Given the description of an element on the screen output the (x, y) to click on. 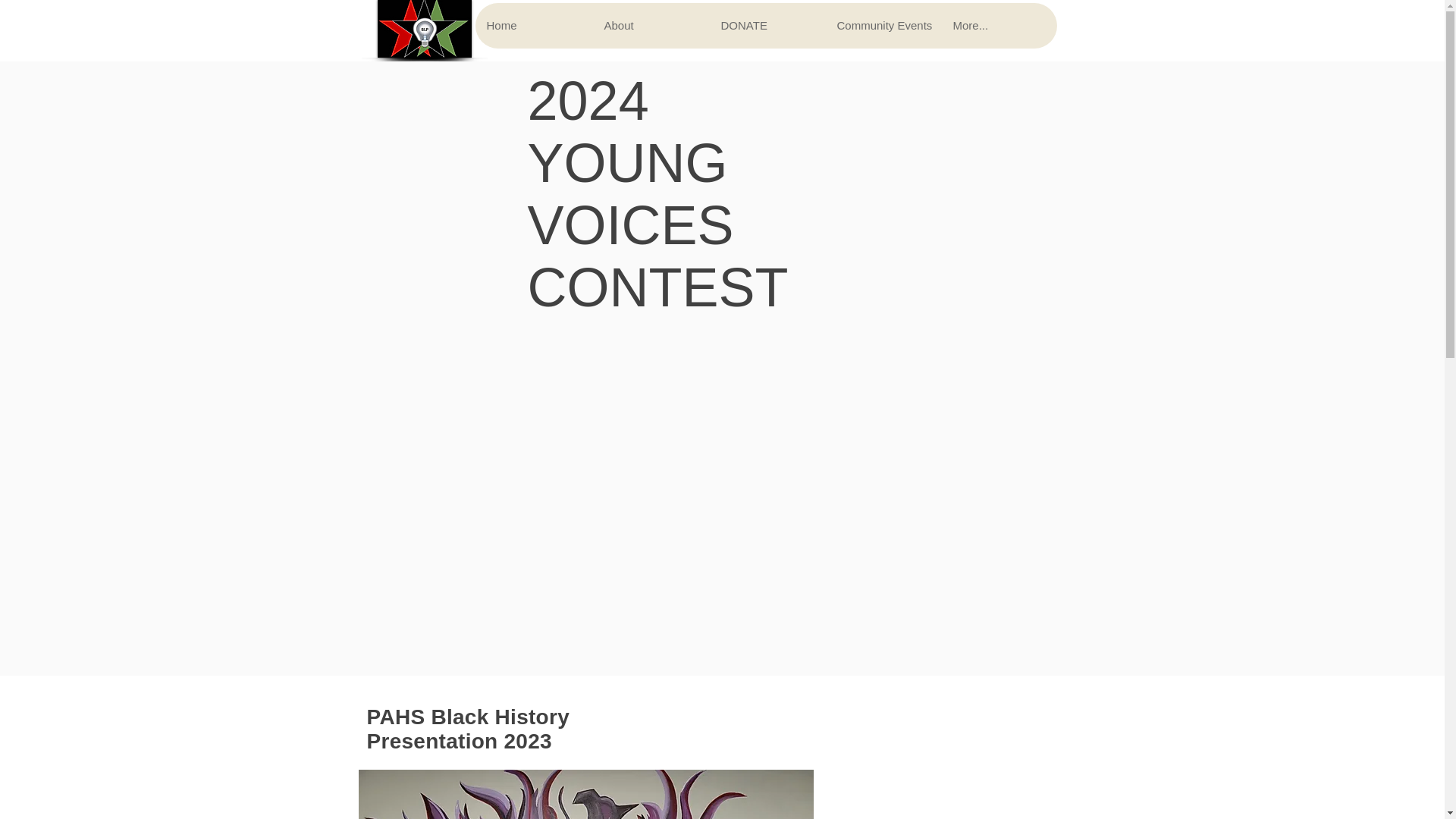
Home (532, 25)
DONATE (765, 25)
About (649, 25)
Community Events (882, 25)
